Given the description of an element on the screen output the (x, y) to click on. 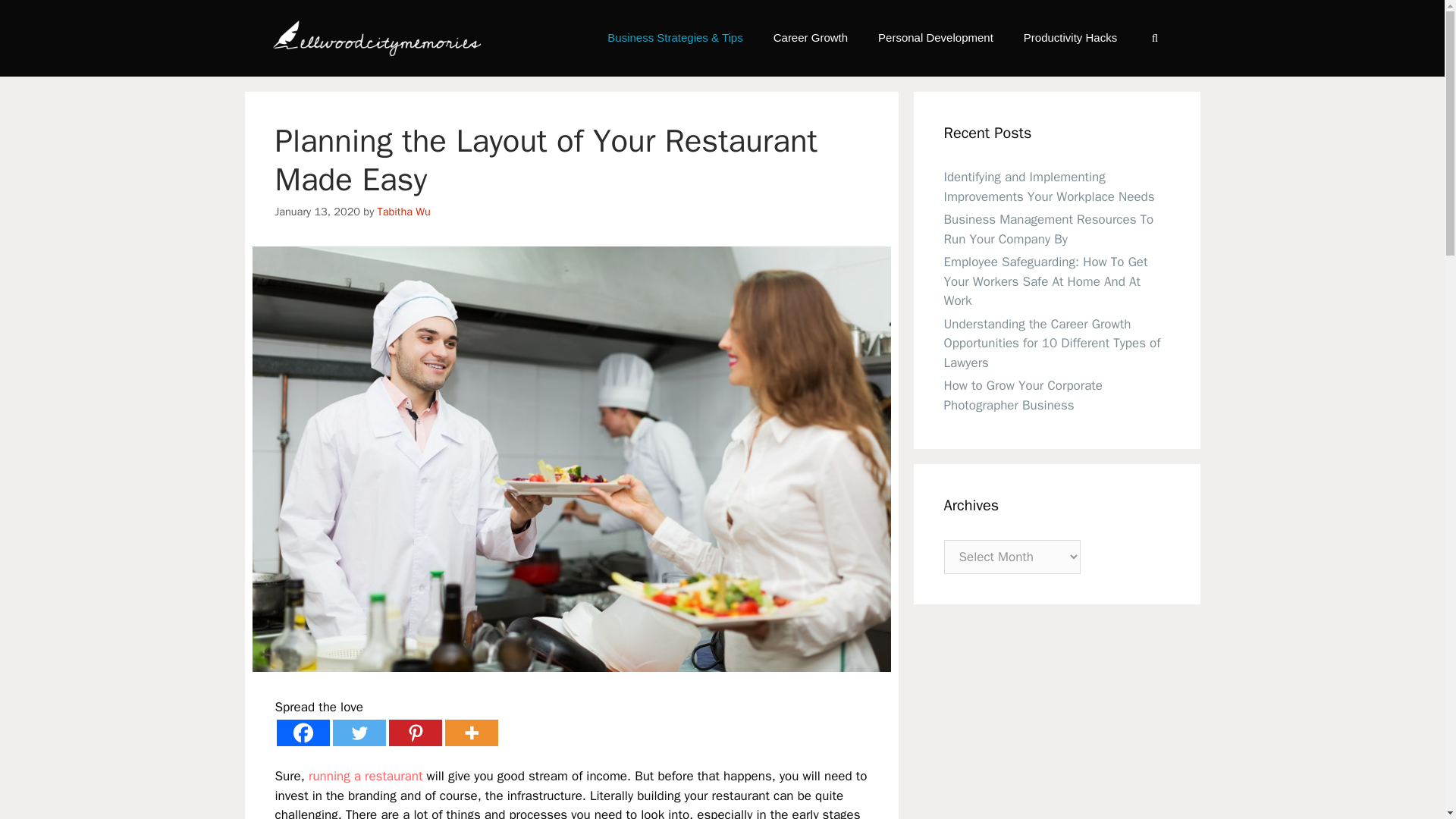
How to Grow Your Corporate Photographer Business (1022, 395)
Pinterest (414, 732)
Productivity Hacks (1070, 37)
Career Growth (810, 37)
Tabitha Wu (403, 211)
View all posts by Tabitha Wu (403, 211)
Facebook (302, 732)
More (470, 732)
Business Management Resources To Run Your Company By (1048, 229)
